Given the description of an element on the screen output the (x, y) to click on. 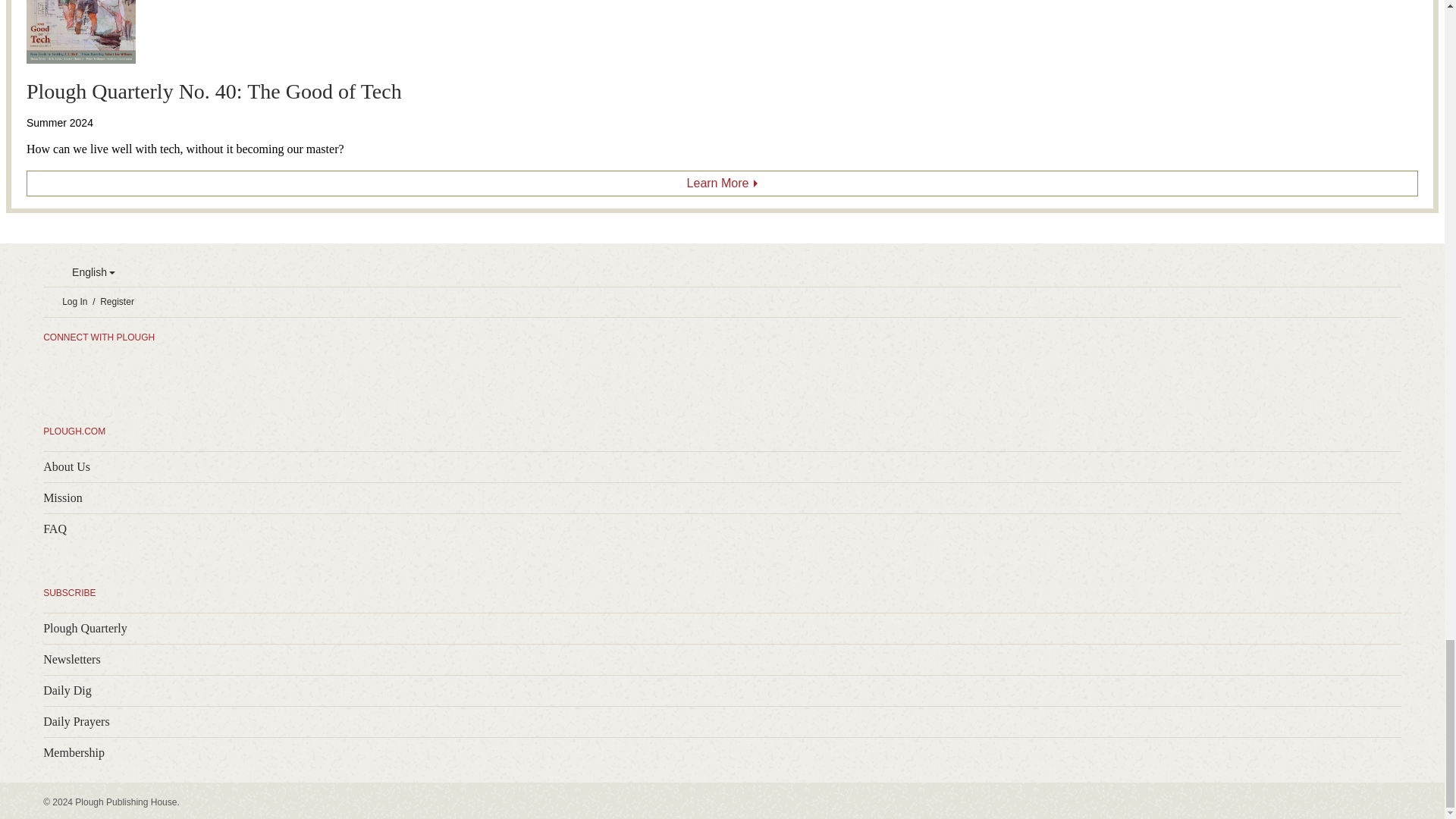
Follow Plough on Facebook (117, 368)
Follow Plough RSS Feed (56, 368)
Follow Plough on Pinterest (176, 368)
Follow Plough on YouTube (205, 368)
